Given the description of an element on the screen output the (x, y) to click on. 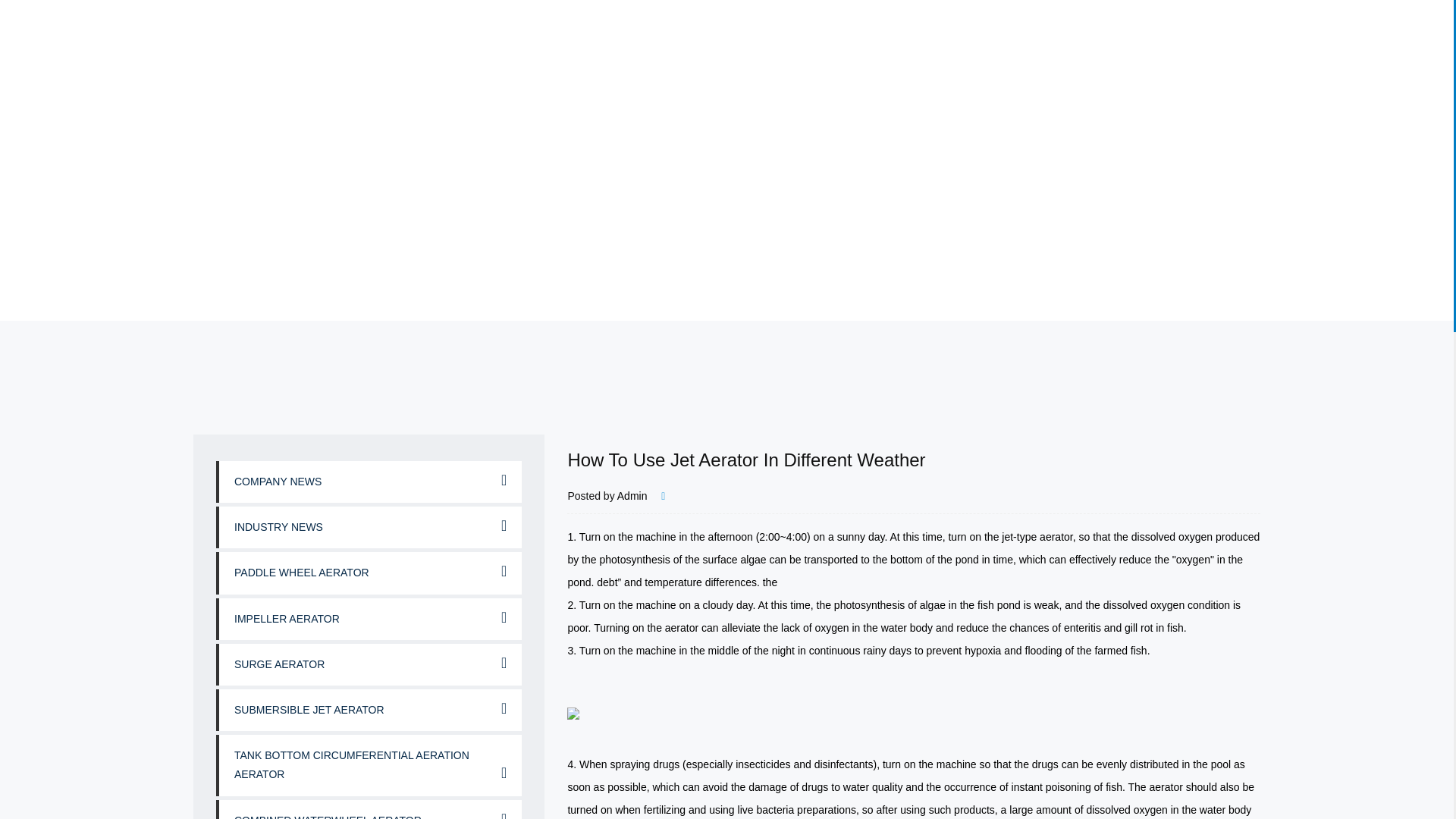
ABOUT US (663, 56)
PRODUCTS (796, 56)
HOME (554, 56)
